Given the description of an element on the screen output the (x, y) to click on. 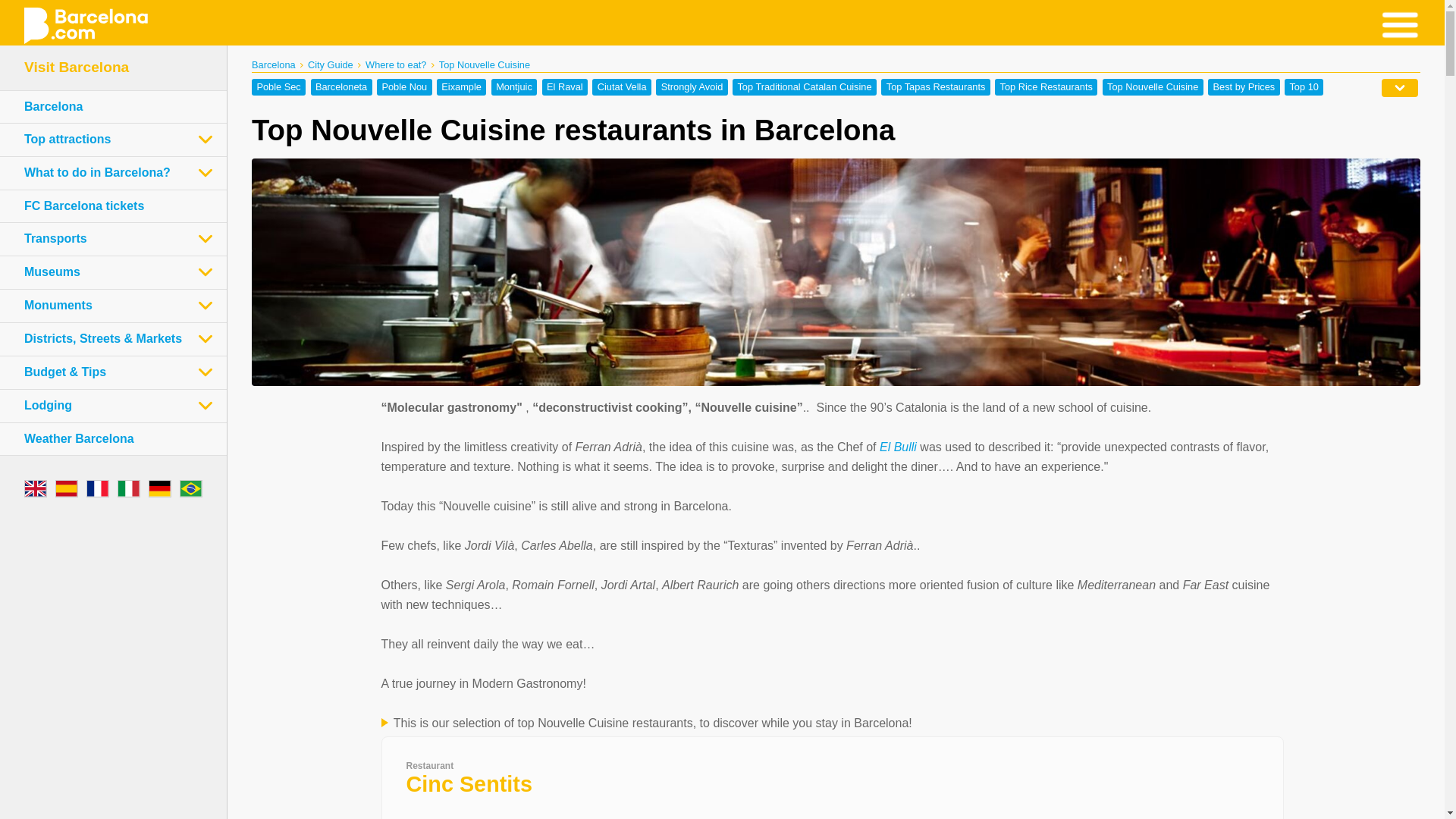
City Guide (330, 64)
flag-es (66, 488)
Top Nouvelle Cuisine (1153, 86)
logo-ba-white (85, 25)
El Bulli restaurant - Barcelona (898, 445)
Best by Prices (1243, 86)
Top 10 (1303, 86)
Strongly Avoid (691, 86)
flag-de (159, 488)
